Given the description of an element on the screen output the (x, y) to click on. 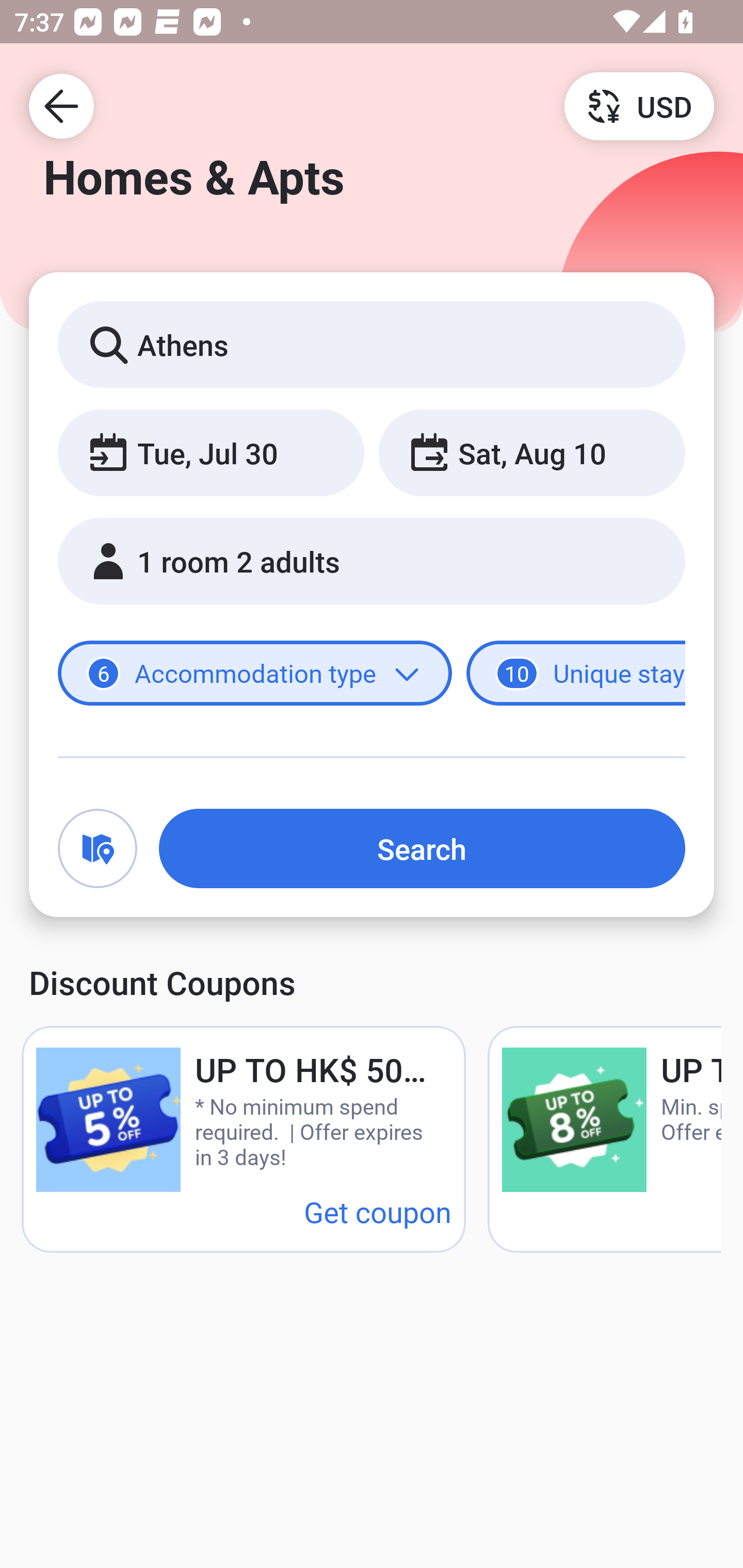
USD (639, 105)
Athens (371, 344)
Tue, Jul 30 (210, 452)
Sat, Aug 10 (531, 452)
1 room 2 adults (371, 561)
6 Accommodation type (254, 673)
10 Unique stays (575, 673)
Search (422, 848)
Get coupon (377, 1211)
